Given the description of an element on the screen output the (x, y) to click on. 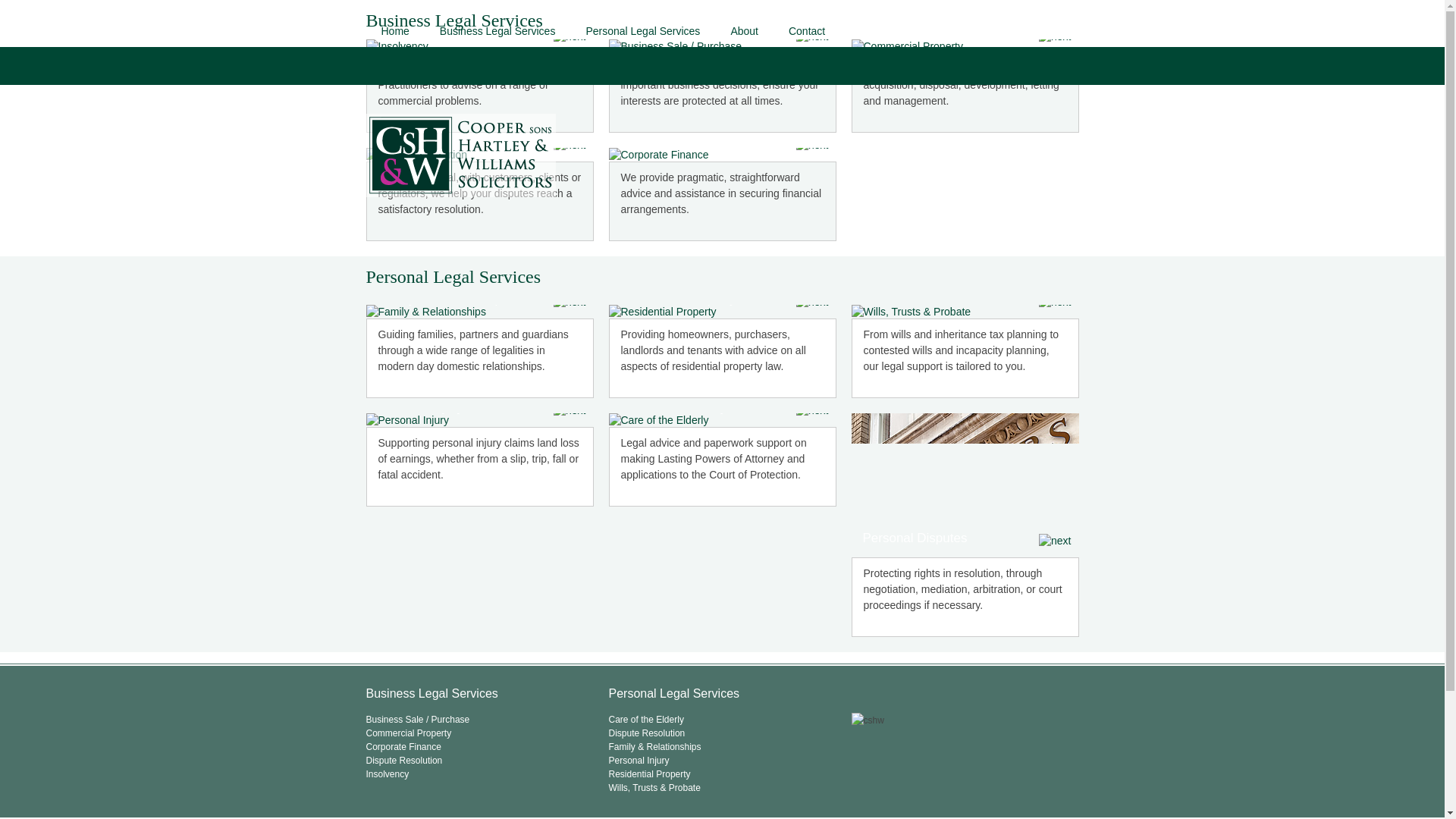
Contact (806, 30)
Personal Legal Services (642, 30)
Business Legal Services (497, 30)
Home (394, 30)
About (743, 30)
